Given the description of an element on the screen output the (x, y) to click on. 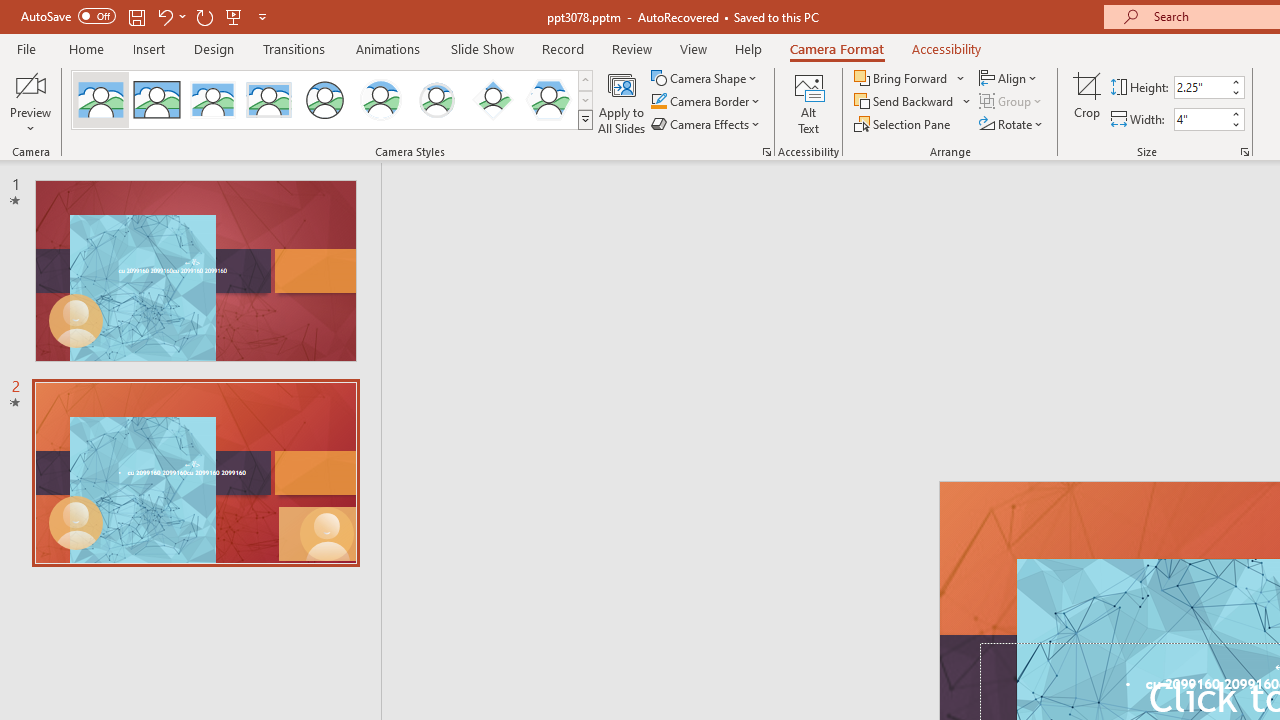
Camera Styles (585, 120)
Size and Position... (1244, 151)
Center Shadow Circle (381, 100)
No Style (100, 100)
Bring Forward (902, 78)
Camera Border Green, Accent 1 (658, 101)
Center Shadow Rectangle (212, 100)
Bring Forward (910, 78)
